Given the description of an element on the screen output the (x, y) to click on. 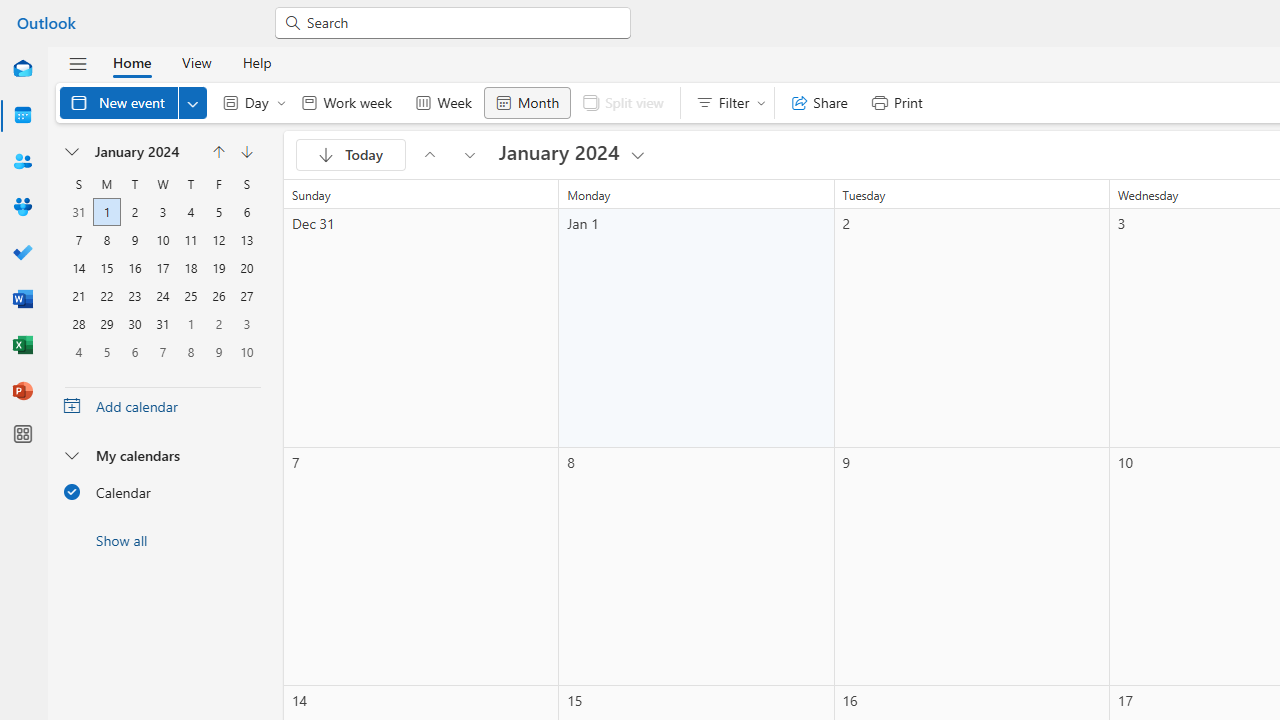
13, January, 2024 (246, 240)
14, January, 2024 (79, 268)
21, January, 2024 (79, 296)
15, January, 2024 (106, 268)
Day (249, 102)
More apps (22, 434)
31, January, 2024 (162, 323)
Wednesday (162, 183)
Tuesday (134, 183)
31, December, 2023 (79, 212)
10, January, 2024 (163, 239)
6, January, 2024 (246, 211)
2, January, 2024 (134, 211)
10, February, 2024 (246, 351)
3, January, 2024 (163, 211)
